Given the description of an element on the screen output the (x, y) to click on. 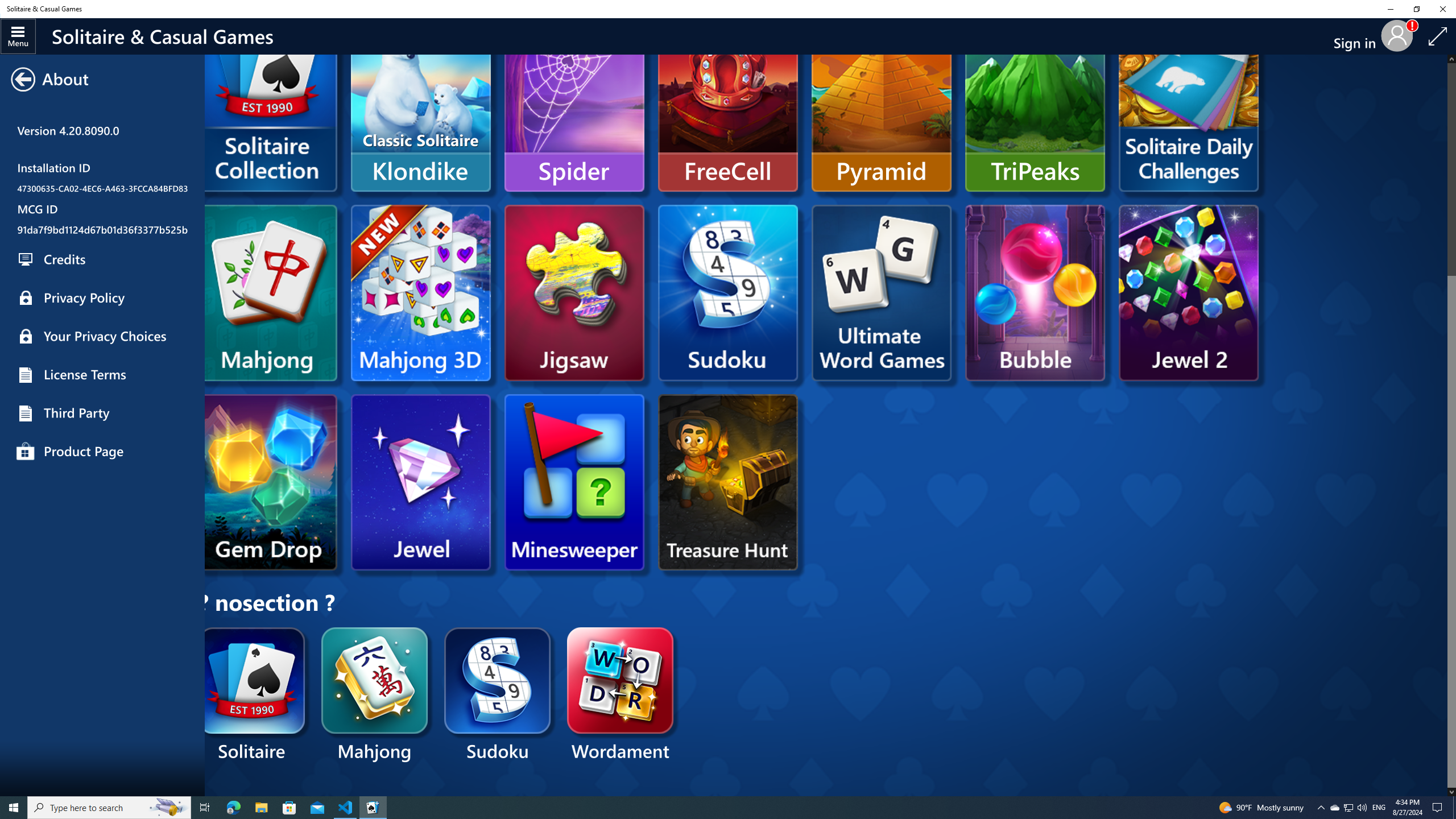
Spider (574, 103)
Sudoku (496, 695)
Microsoft Jewel 2 (1187, 292)
Microsoft Treasure Hunt (727, 481)
Pyramid (881, 103)
Microsoft Jewel (420, 481)
License Terms (102, 374)
Microsoft Gem Drop (271, 481)
Microsoft Sudoku (727, 292)
Sign in (1358, 36)
Product Page (102, 451)
